Given the description of an element on the screen output the (x, y) to click on. 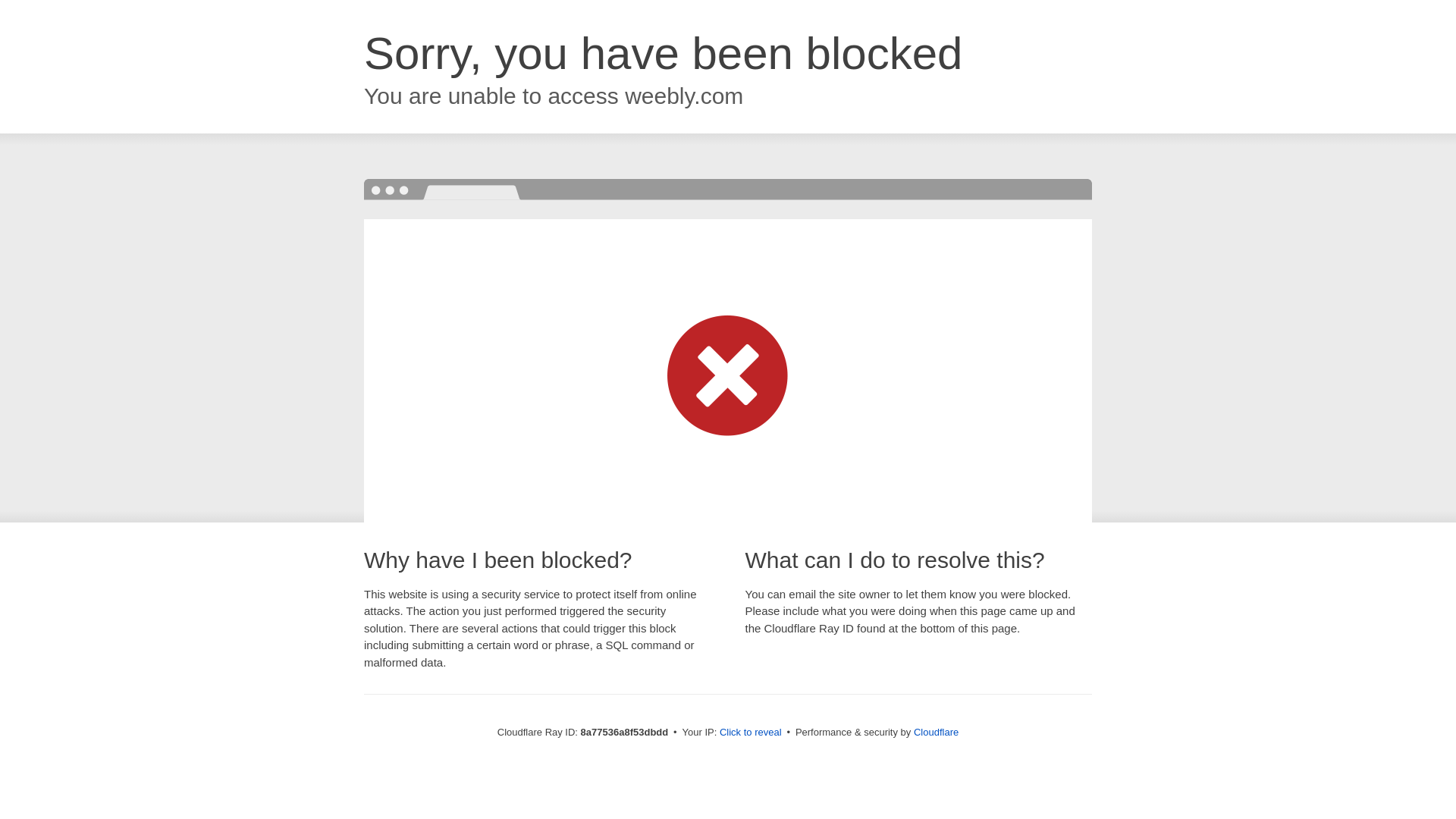
Click to reveal (750, 732)
Cloudflare (936, 731)
